Given the description of an element on the screen output the (x, y) to click on. 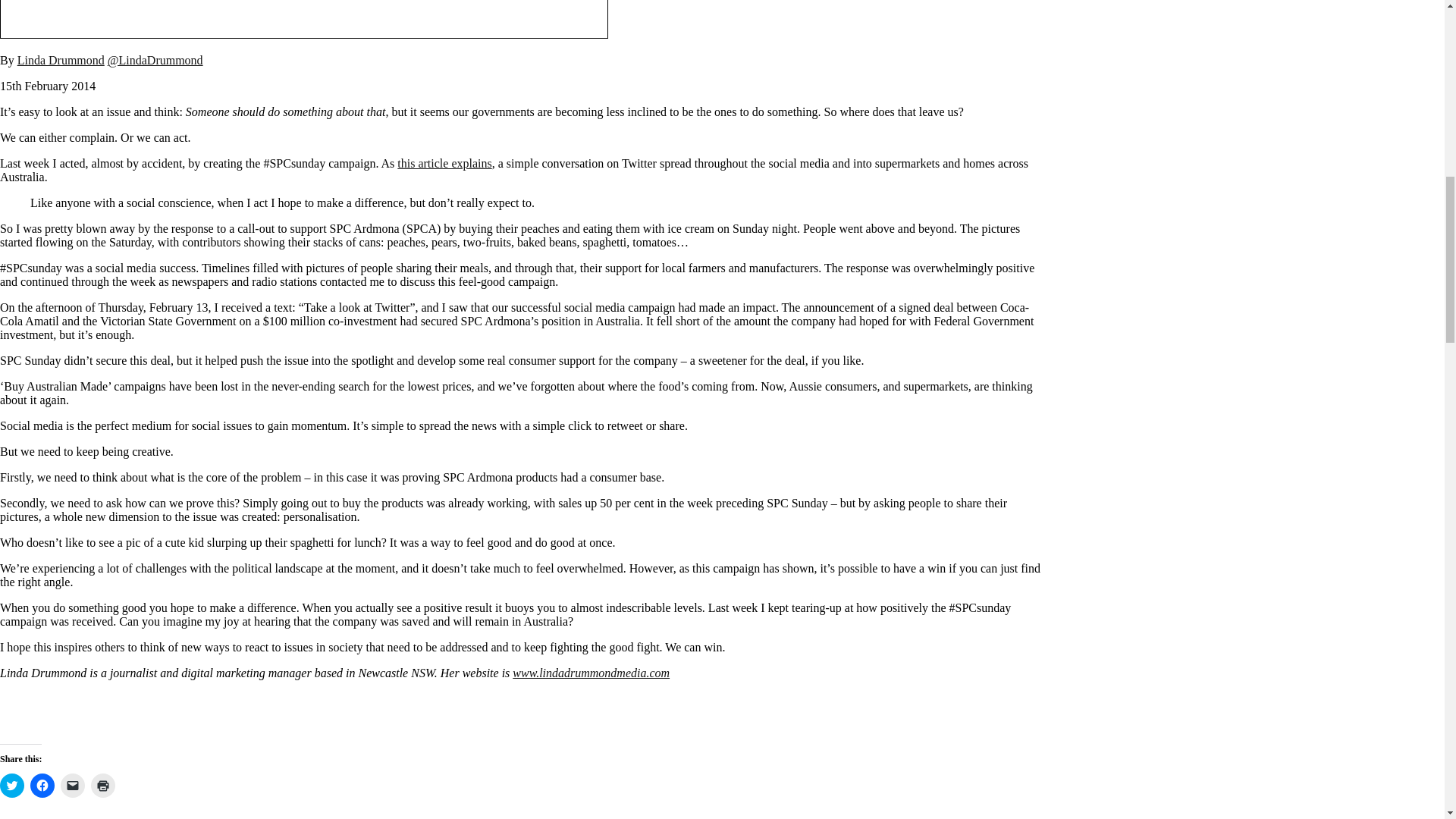
Linda Drummond (60, 60)
Click to print (102, 785)
Linda Drummond (60, 60)
Click to share on Facebook (42, 785)
Click to email a link to a friend (72, 785)
Click to share on Twitter (12, 785)
